Given the description of an element on the screen output the (x, y) to click on. 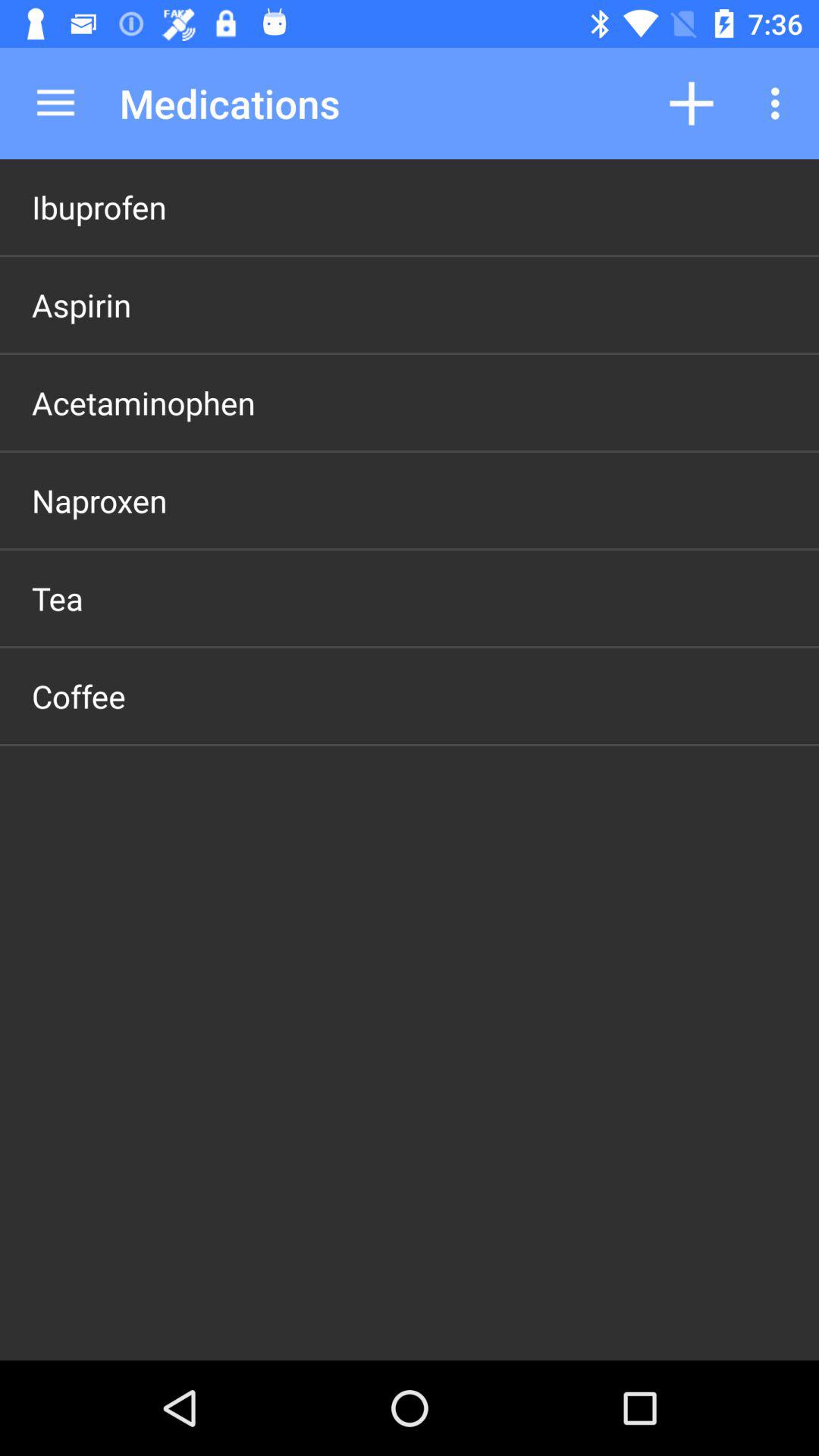
click the naproxen (99, 500)
